Given the description of an element on the screen output the (x, y) to click on. 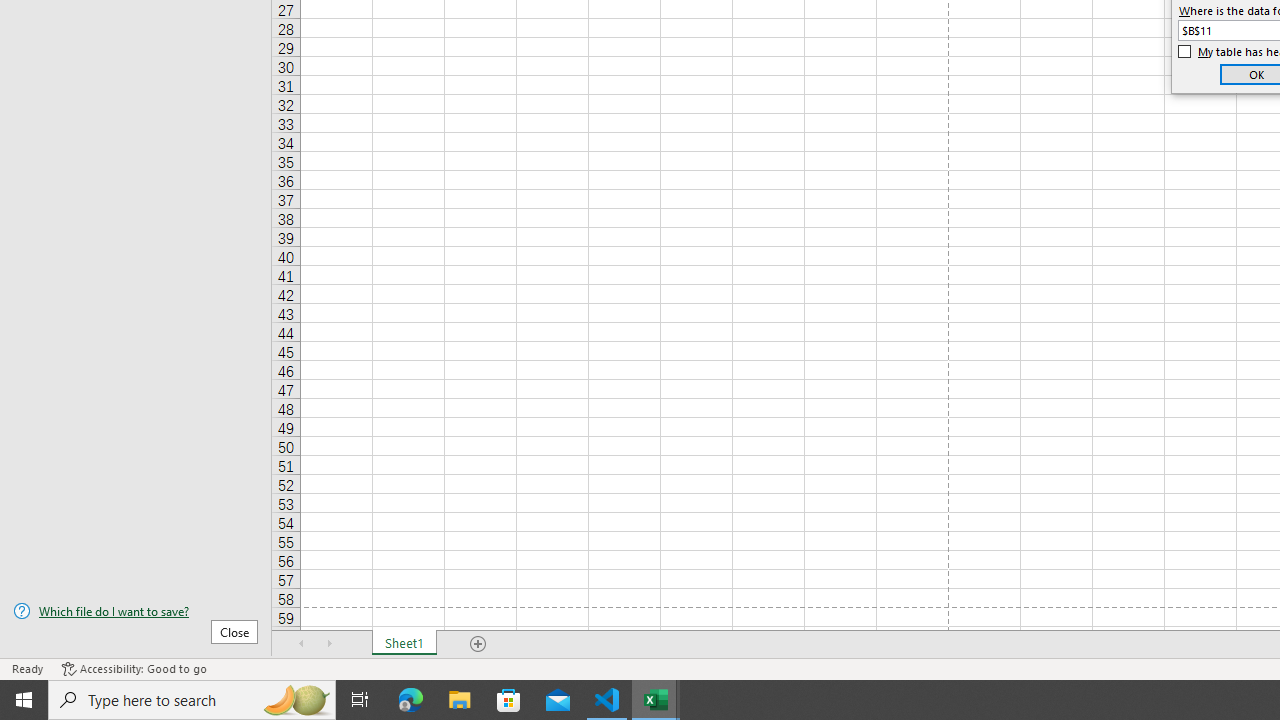
Close (234, 631)
Accessibility Checker Accessibility: Good to go (134, 668)
Add Sheet (478, 644)
Scroll Left (302, 644)
Which file do I want to save? (136, 611)
Sheet1 (404, 644)
Scroll Right (330, 644)
